Given the description of an element on the screen output the (x, y) to click on. 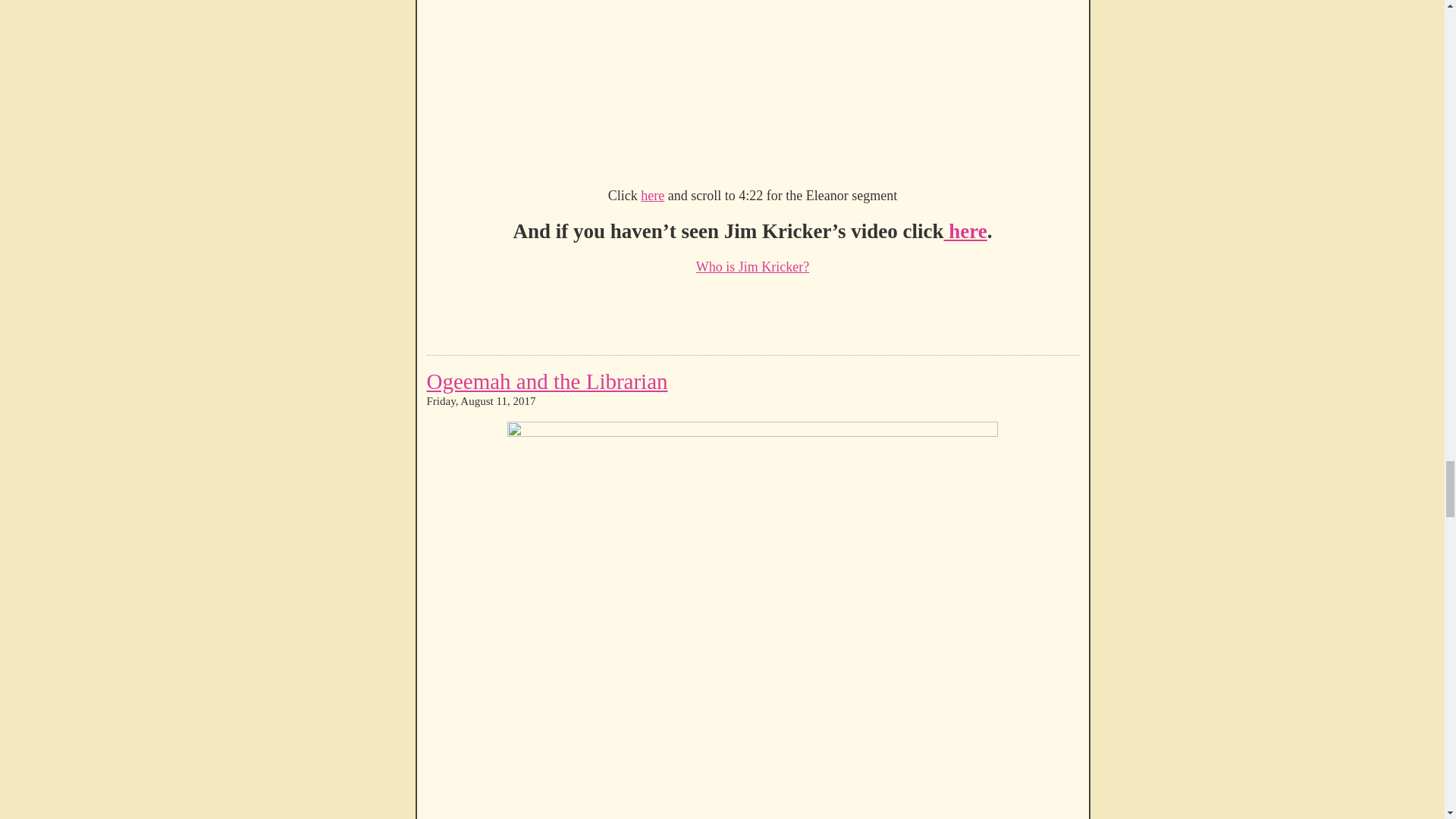
Who is Jim Kricker? (752, 274)
here (651, 195)
Ogeemah and the Librarian (546, 381)
here (965, 231)
